Given the description of an element on the screen output the (x, y) to click on. 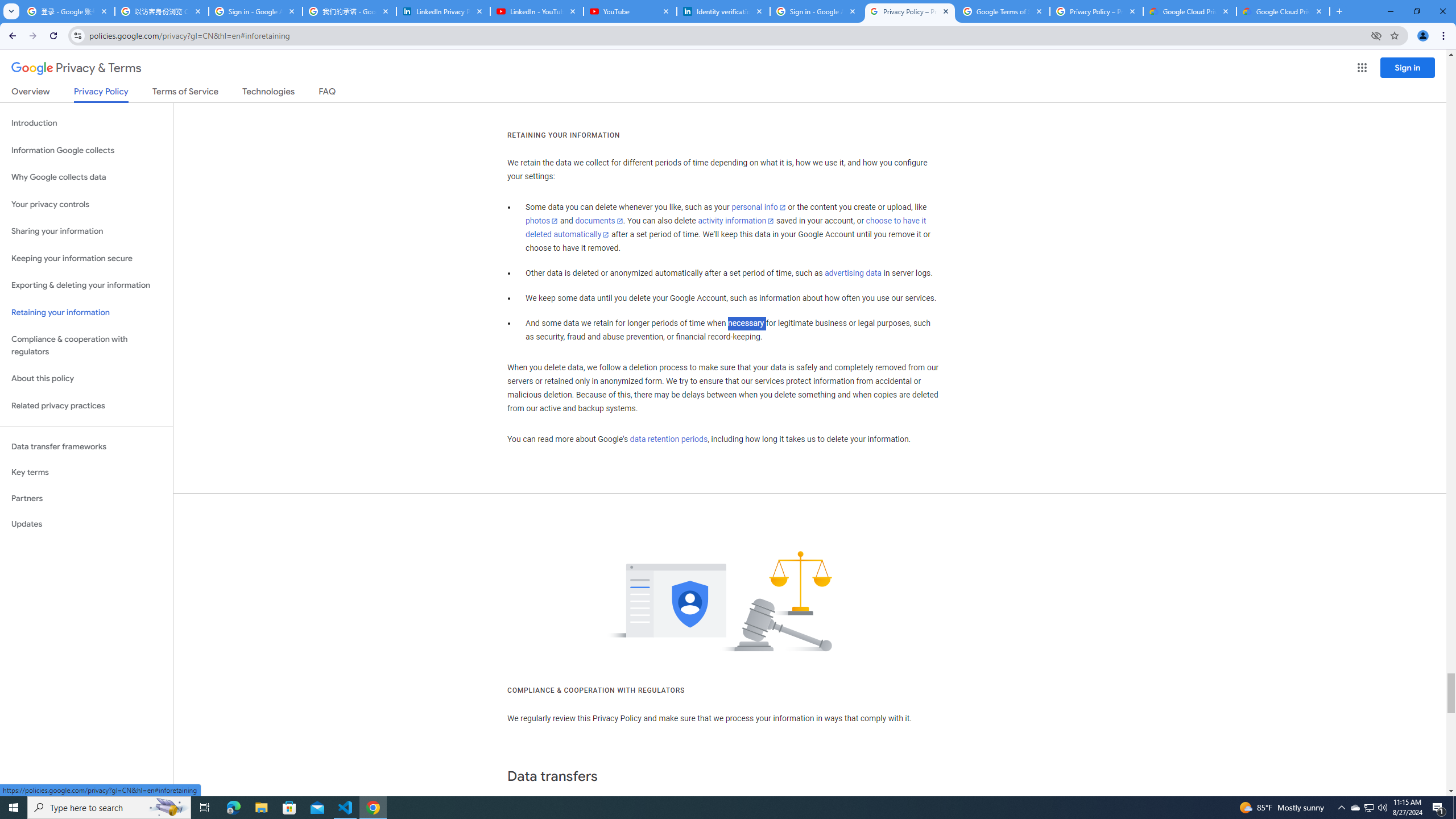
Google Cloud Privacy Notice (1283, 11)
About this policy (86, 379)
activity information (735, 221)
data retention periods (667, 439)
Exporting & deleting your information (86, 284)
Information Google collects (86, 150)
Related privacy practices (86, 405)
